Given the description of an element on the screen output the (x, y) to click on. 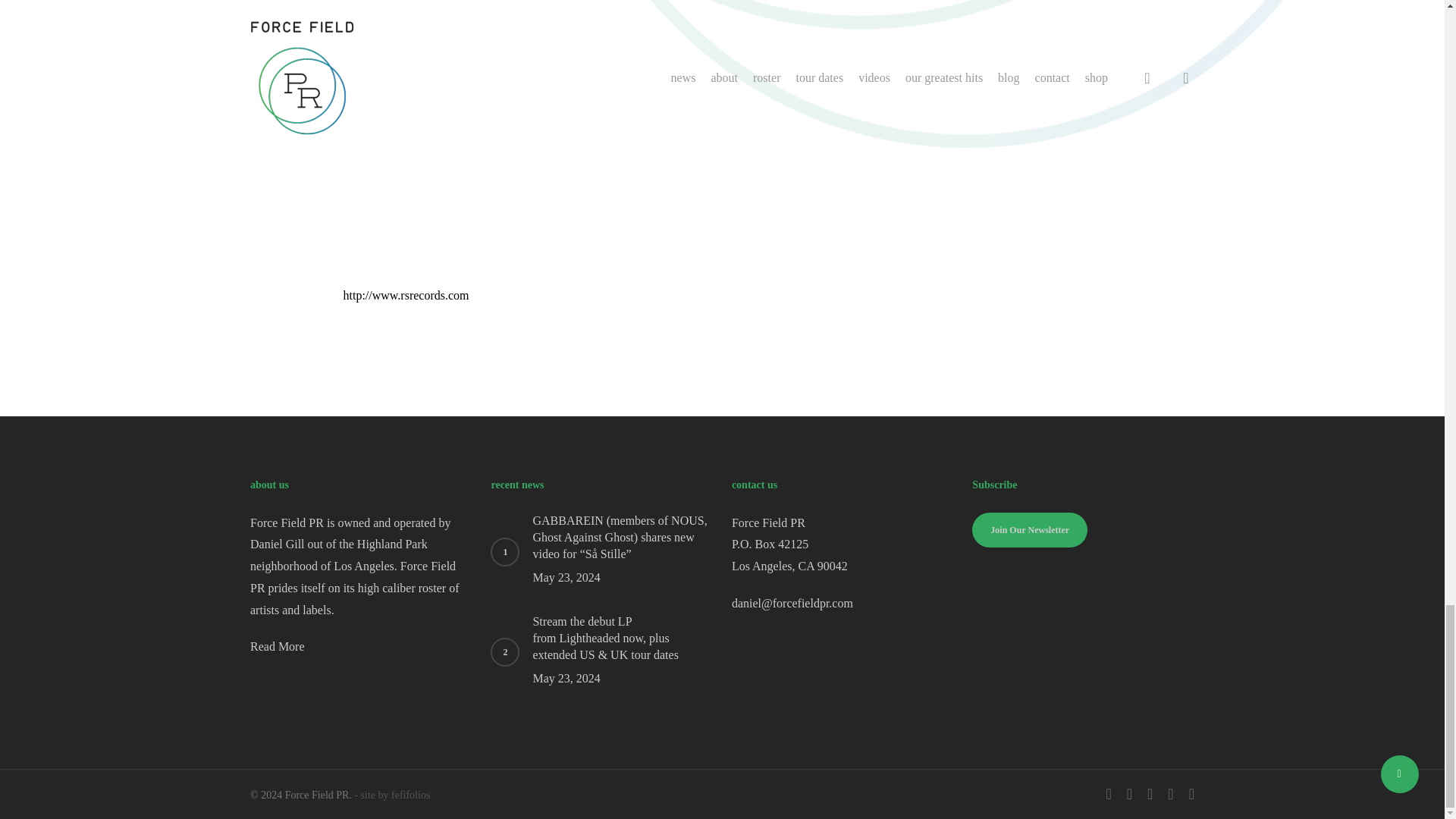
Read More (277, 645)
